Given the description of an element on the screen output the (x, y) to click on. 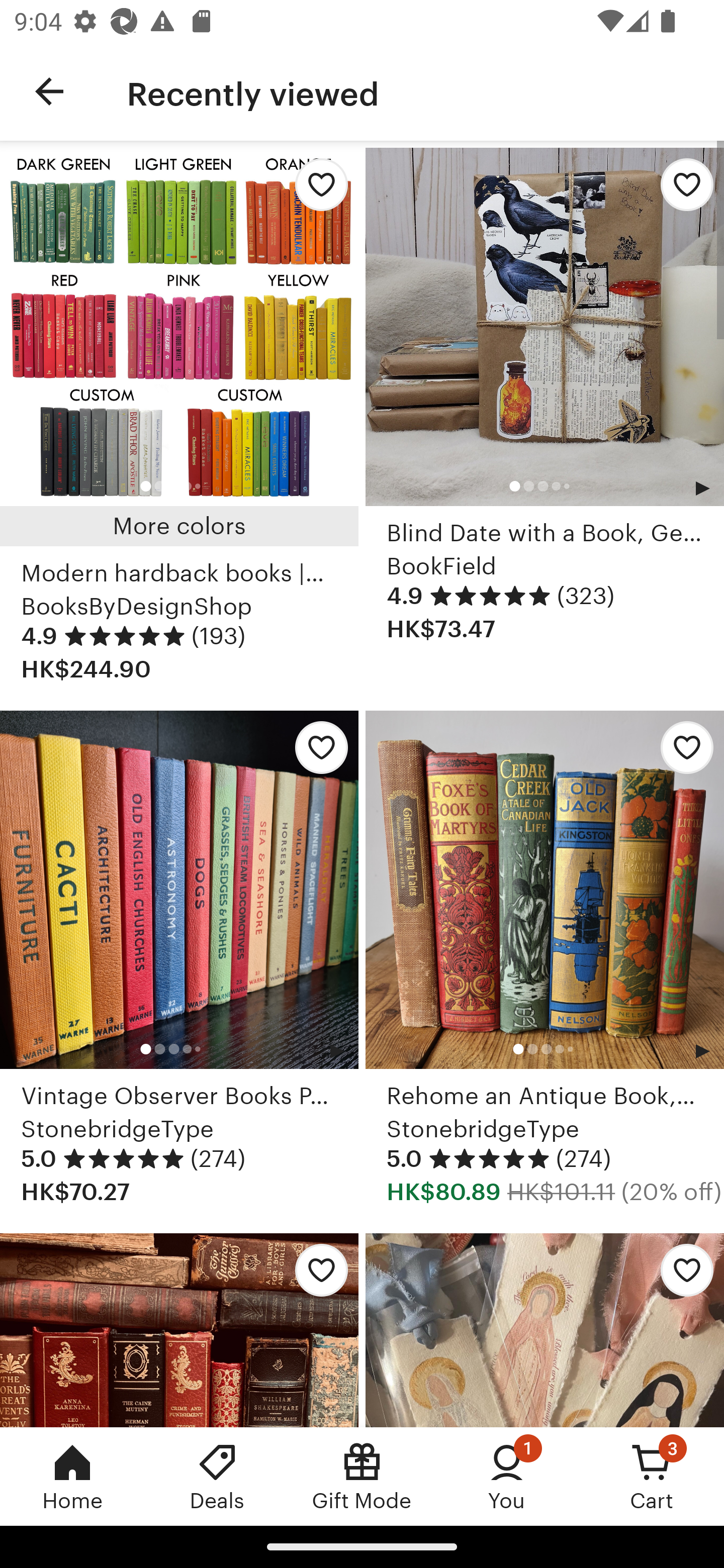
Navigate up (49, 91)
Add Watercolor Bookmarks to favorites (681, 1275)
Deals (216, 1475)
Gift Mode (361, 1475)
You, 1 new notification You (506, 1475)
Cart, 3 new notifications Cart (651, 1475)
